Given the description of an element on the screen output the (x, y) to click on. 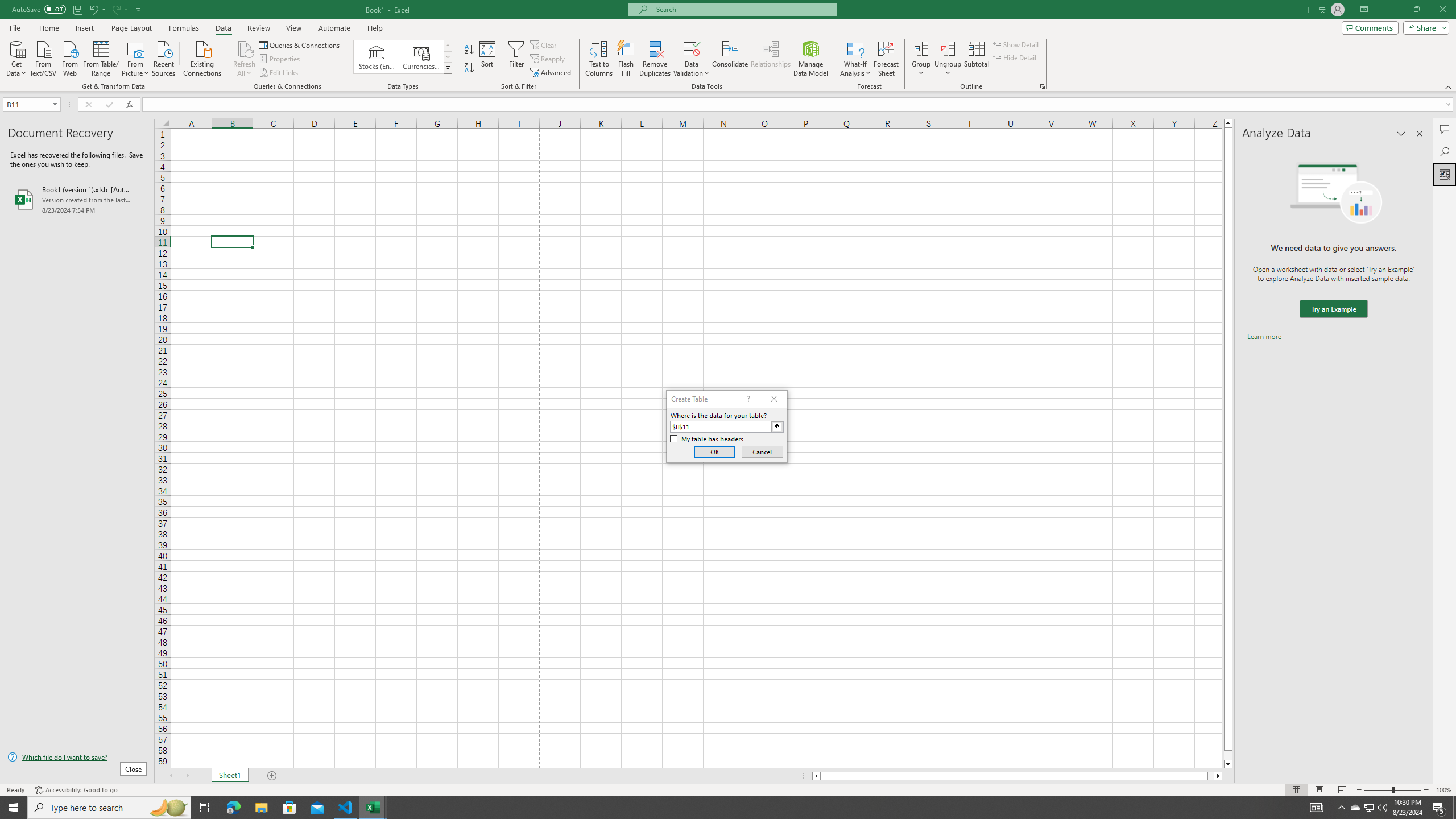
Currencies (English) (420, 56)
Get Data (16, 57)
From Picture (135, 57)
Reapply (548, 58)
Group and Outline Settings (1042, 85)
